Given the description of an element on the screen output the (x, y) to click on. 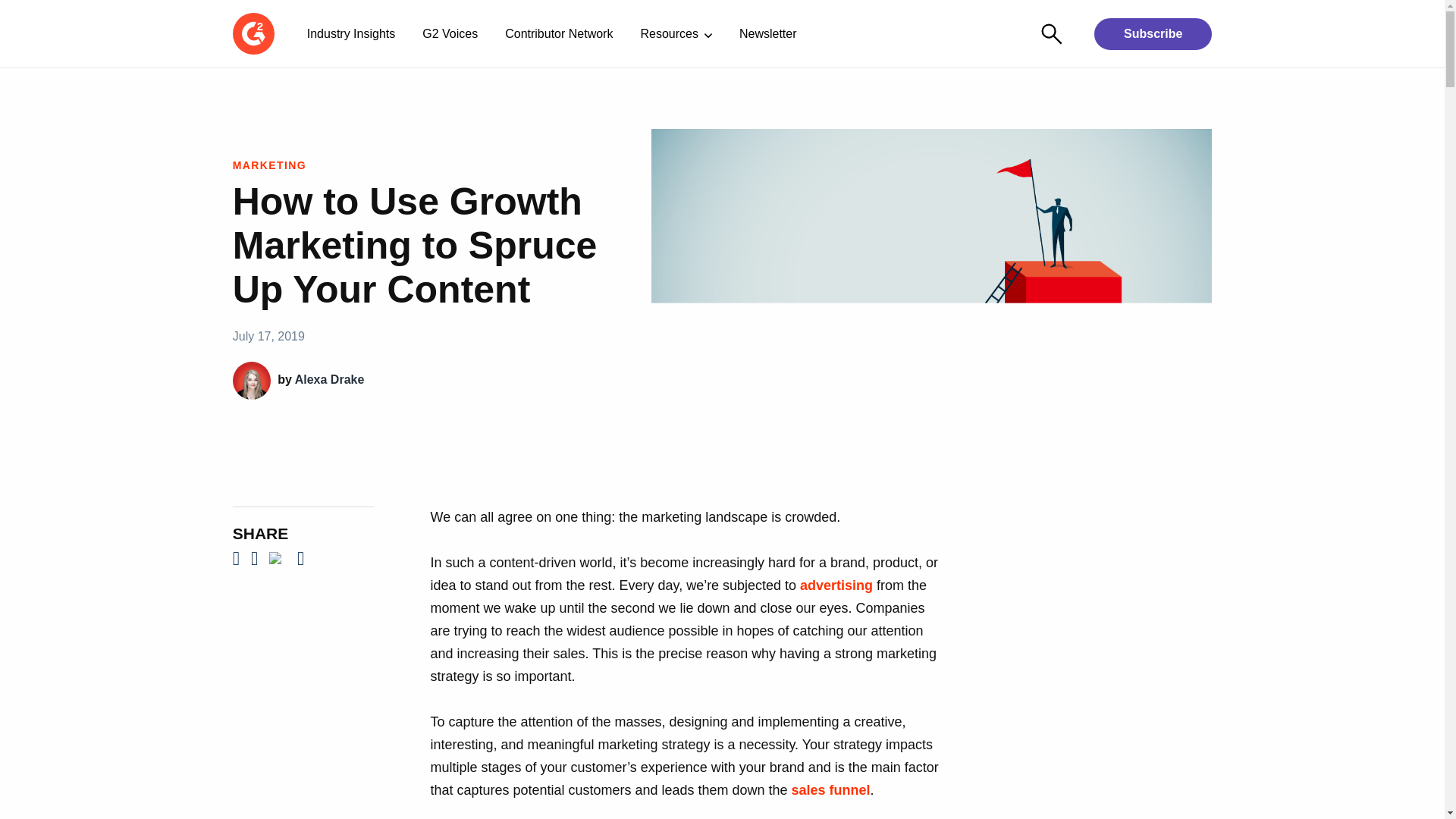
Subscribe (1152, 34)
Resources (675, 33)
Industry Insights (351, 33)
G2 Voices (450, 33)
Contributor Network (559, 33)
advertising (835, 585)
MARKETING (268, 164)
Alexa Drake (330, 379)
Newsletter (767, 33)
sales funnel (829, 789)
